Given the description of an element on the screen output the (x, y) to click on. 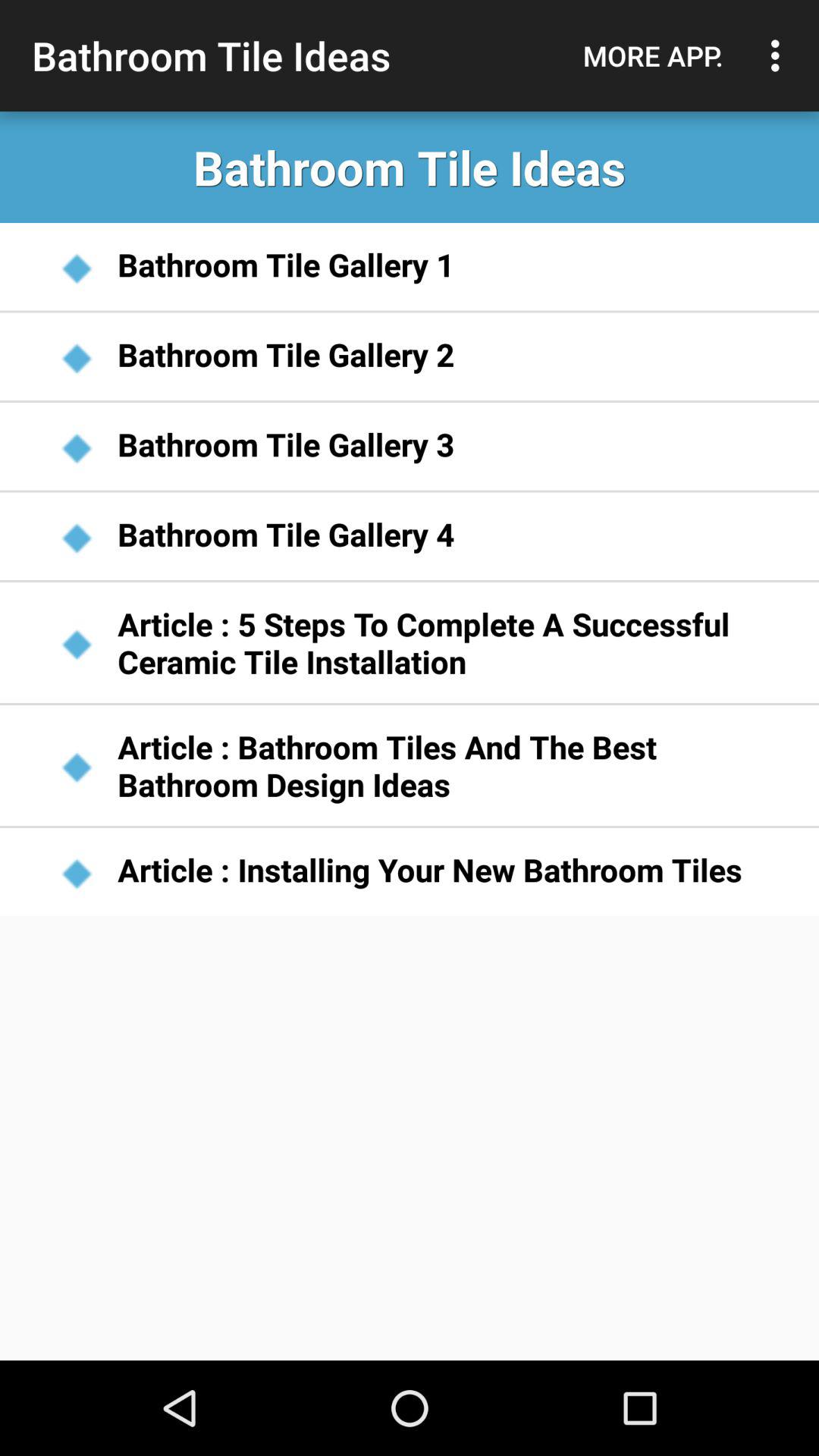
tap the icon next to the bathroom tile ideas app (653, 55)
